Given the description of an element on the screen output the (x, y) to click on. 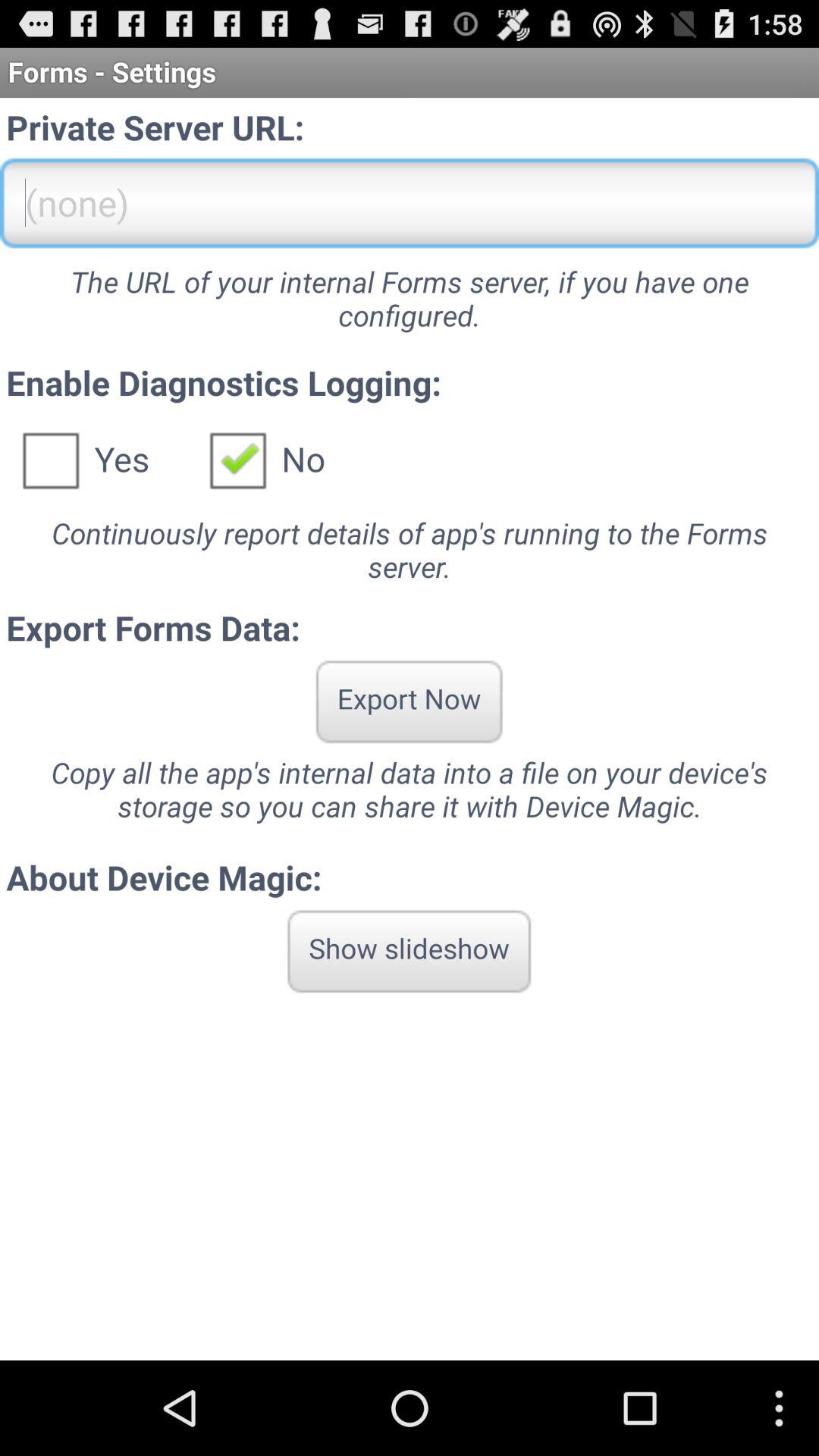
turn on the item below about device magic: app (408, 951)
